Given the description of an element on the screen output the (x, y) to click on. 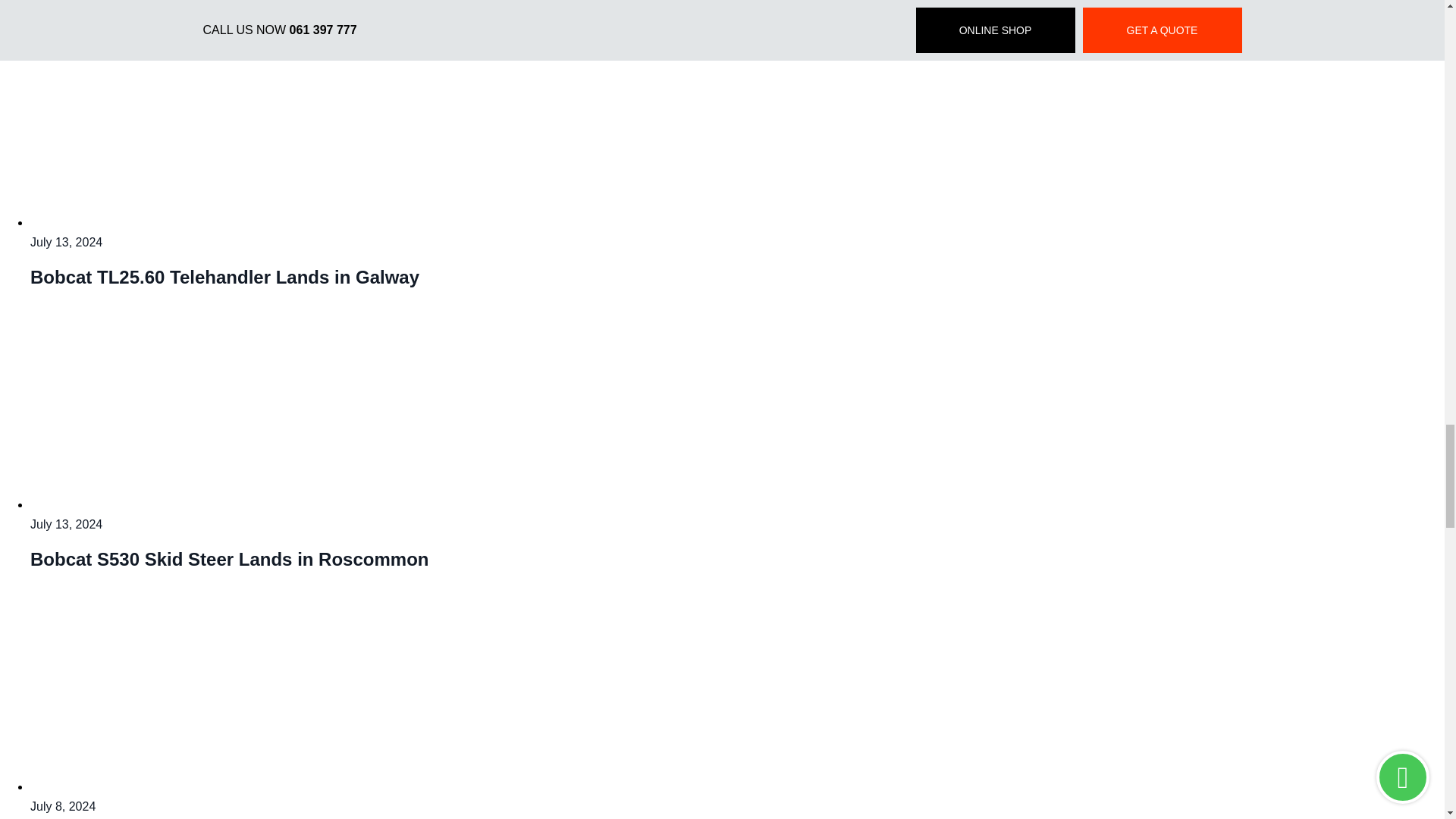
Bobcat S530 Skid Steer Lands in Roscommon (219, 504)
Bobcat TL25.60 Telehandler Lands in Galway (219, 222)
Bobcat E20z Mini Digger Heads to Kerry (219, 786)
